Given the description of an element on the screen output the (x, y) to click on. 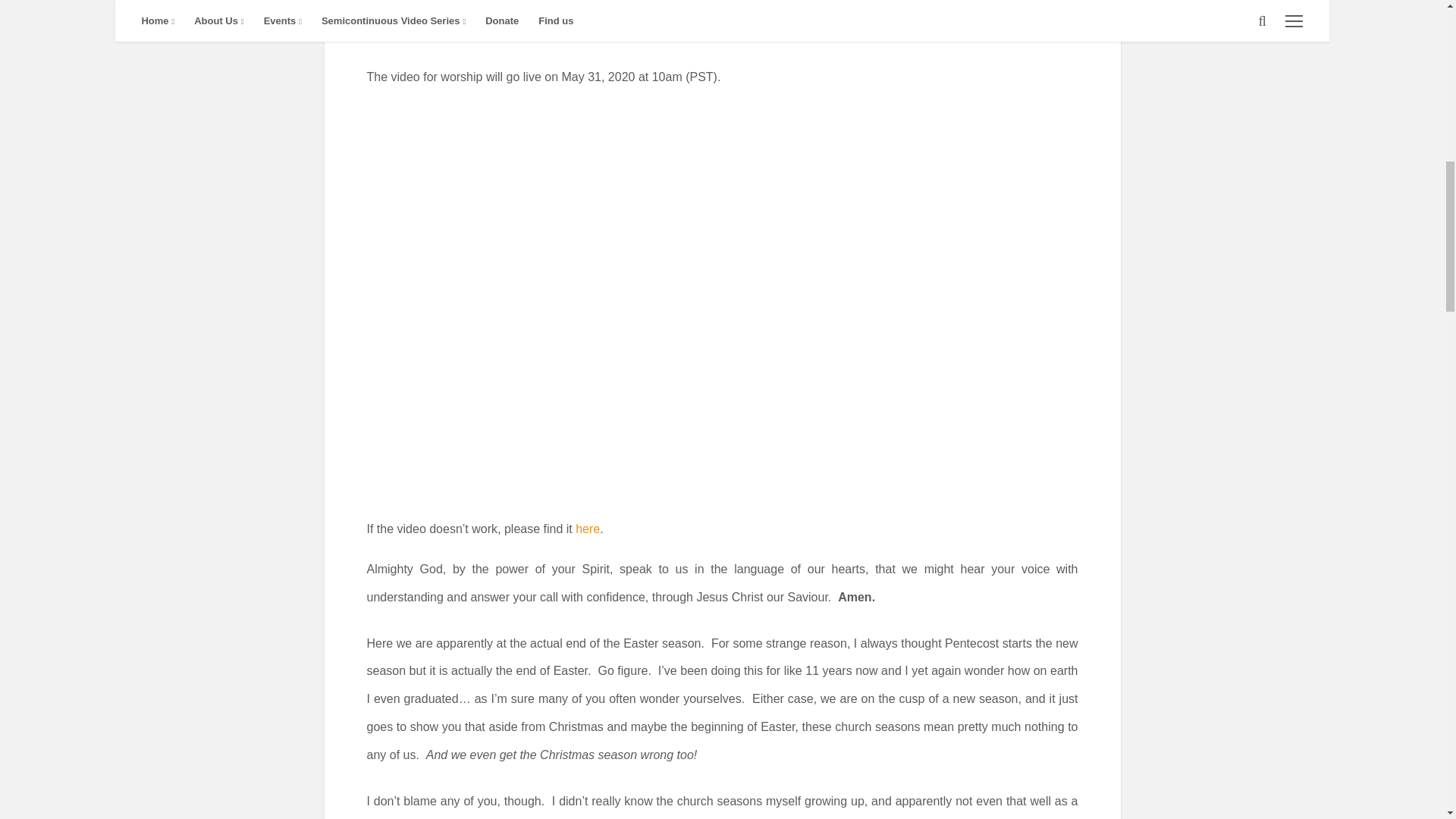
here (587, 528)
